Given the description of an element on the screen output the (x, y) to click on. 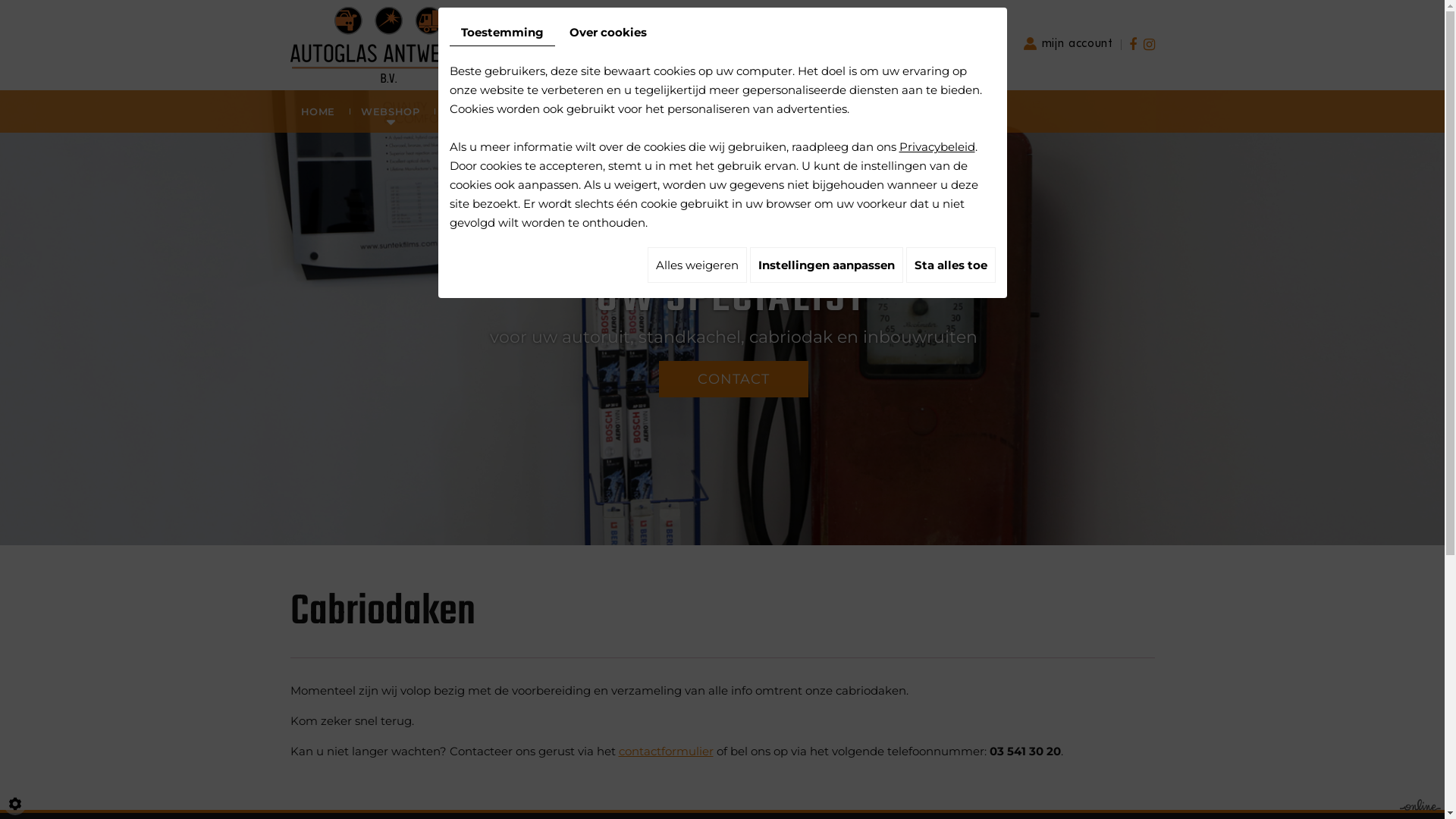
contactformulier Element type: text (665, 750)
INBOUWRUITEN Element type: text (578, 111)
Over cookies Element type: text (608, 31)
CABRIODAKEN Element type: text (797, 111)
WEBSHOP Element type: text (390, 111)
Sta alles toe Element type: text (949, 264)
mijn account Element type: text (1068, 43)
Autoglas Antwerpen - Banketbakkerij Element type: hover (387, 43)
Toestemming Element type: text (501, 32)
AUTOGLAS Element type: text (475, 111)
CONTACT Element type: text (732, 378)
VERWARMING Element type: text (690, 111)
Cookie-instelling bewerken Element type: text (14, 803)
CONTACT Element type: text (892, 111)
HOME Element type: text (317, 111)
Instellingen aanpassen Element type: text (825, 264)
Privacybeleid Element type: text (937, 146)
Alles weigeren Element type: text (696, 264)
